Given the description of an element on the screen output the (x, y) to click on. 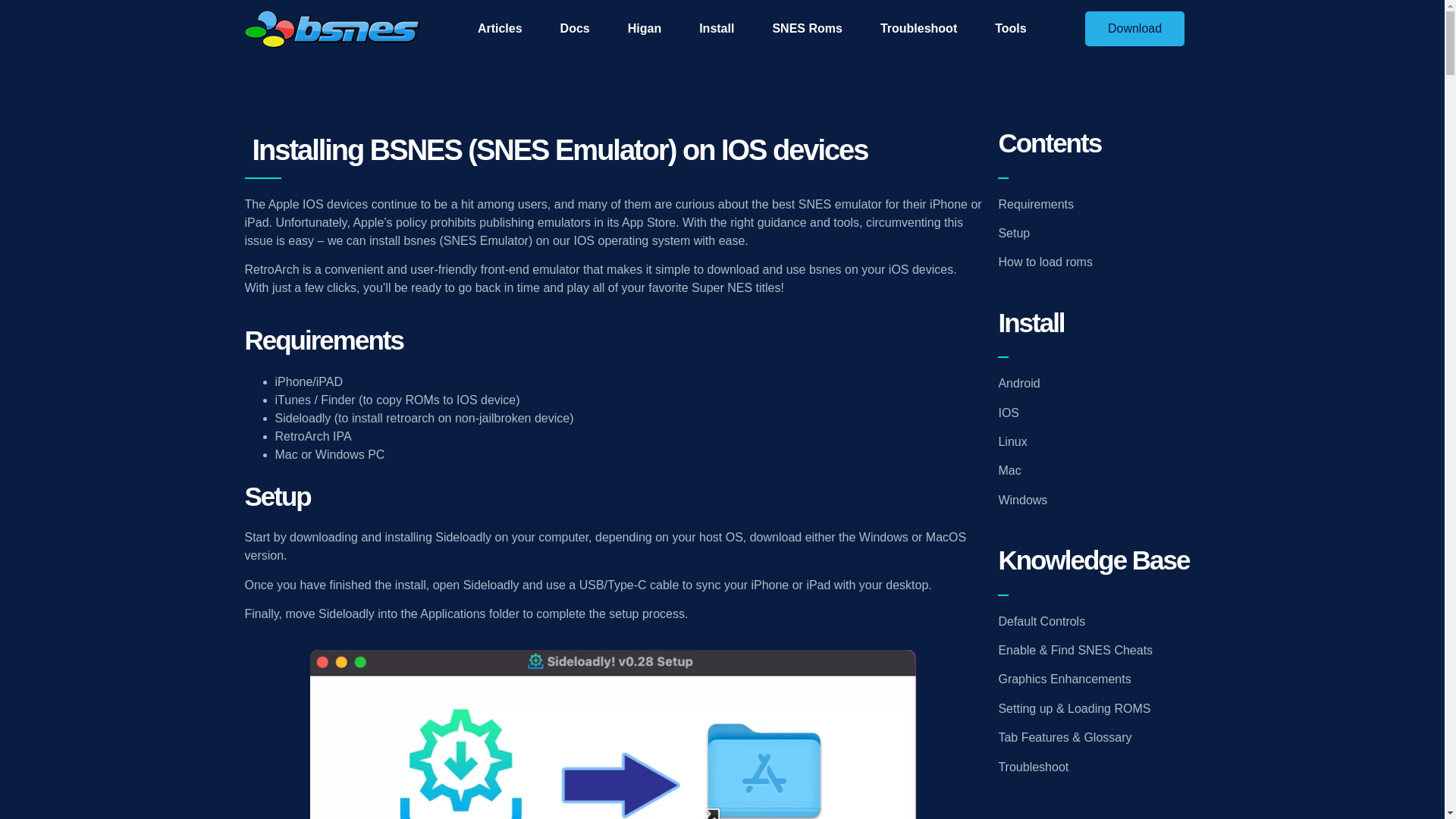
Articles (499, 28)
BSNES logo (331, 28)
Troubleshoot (918, 28)
Download (1134, 28)
Sideloadly (463, 536)
SNES Roms (806, 28)
RetroArch IPA (312, 436)
iTunes (292, 399)
Sideloadly (302, 418)
